Given the description of an element on the screen output the (x, y) to click on. 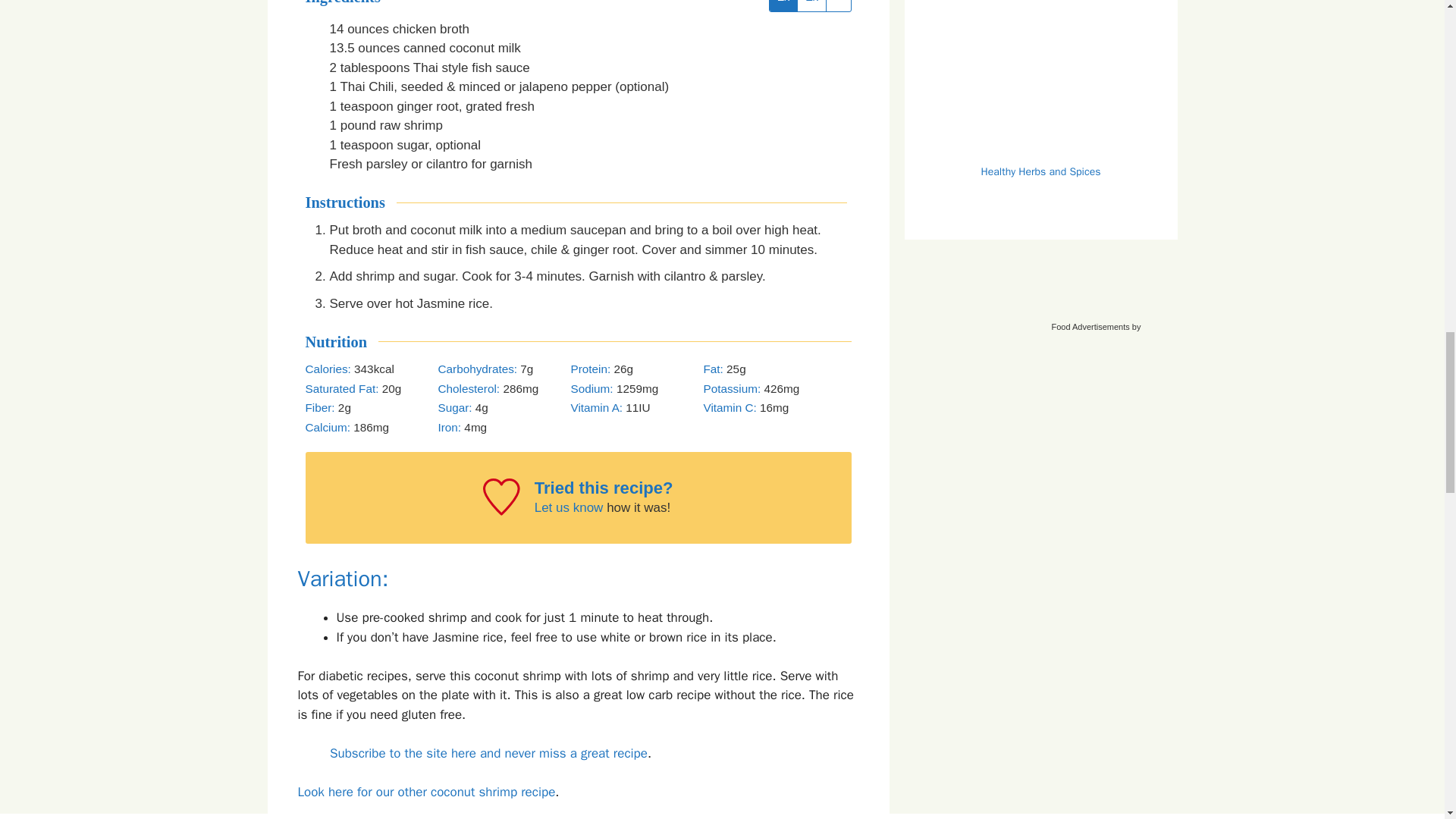
Food Advertisements (1090, 326)
Healthy Herbs and Spices (1040, 145)
